Given the description of an element on the screen output the (x, y) to click on. 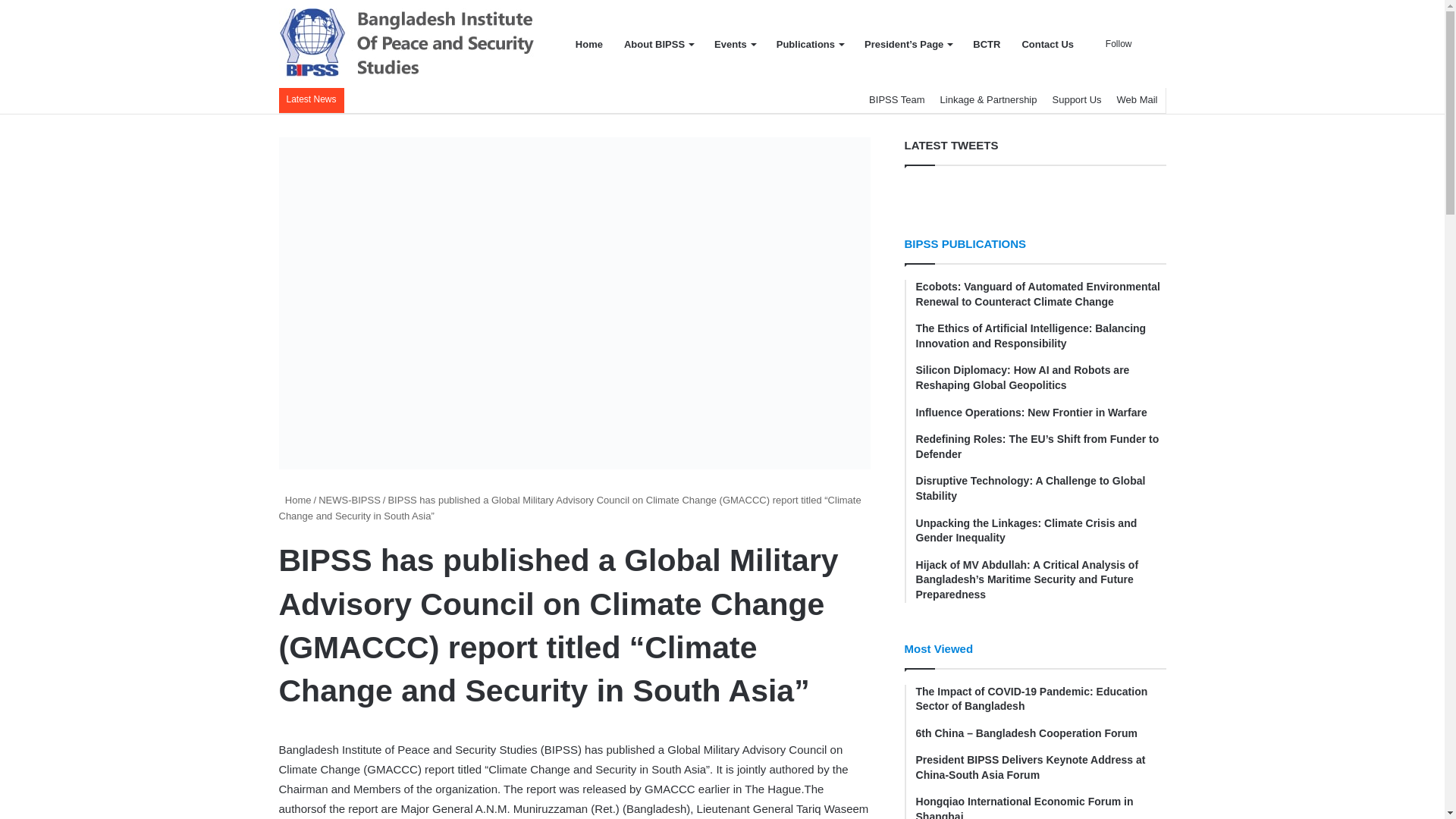
Publications (809, 43)
BIPSS Team (896, 99)
BIPSS (408, 44)
About BIPSS (657, 43)
